Given the description of an element on the screen output the (x, y) to click on. 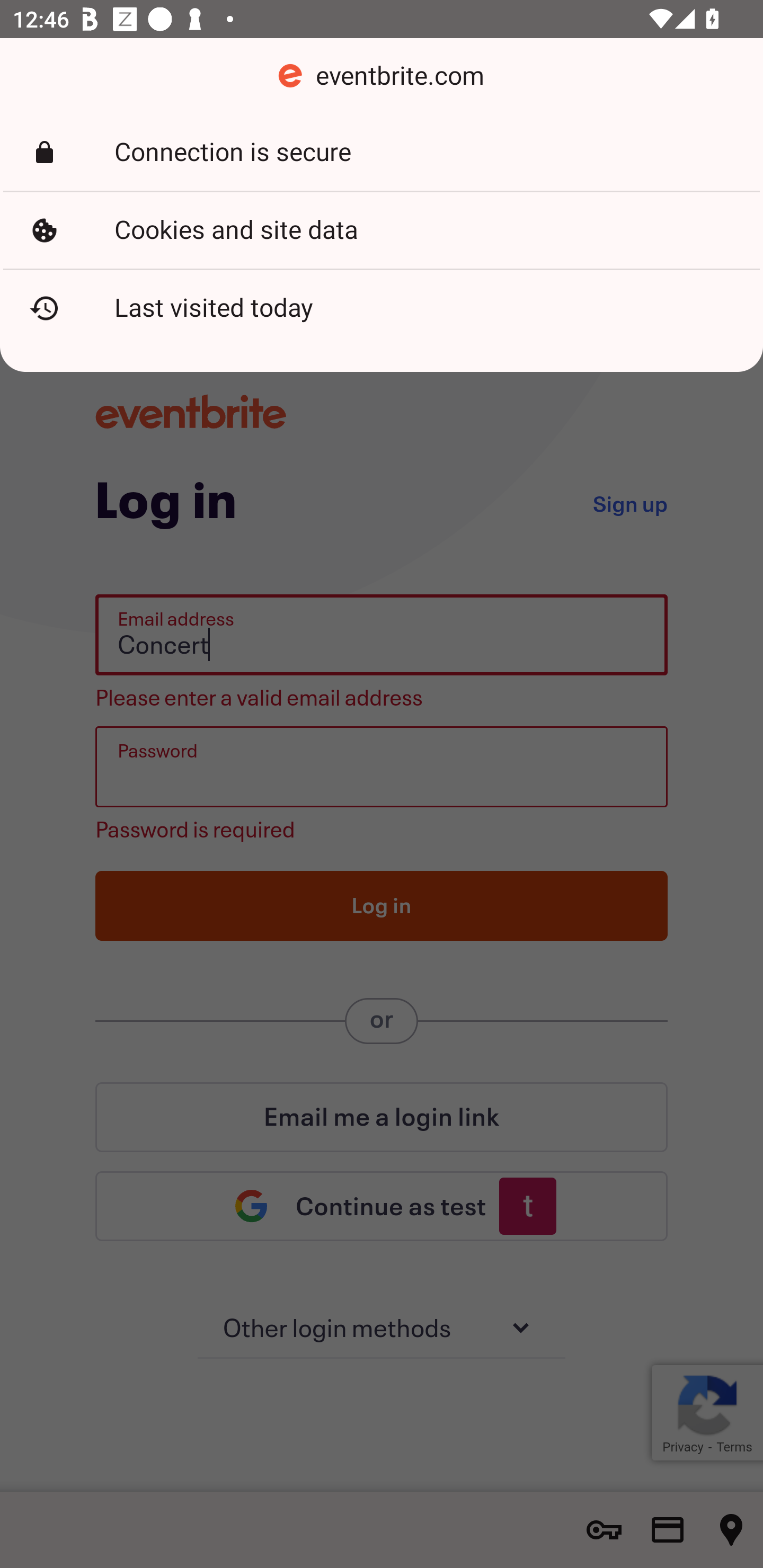
eventbrite.com (381, 75)
Connection is secure (381, 152)
Cookies and site data (381, 230)
Last visited today (381, 307)
